Given the description of an element on the screen output the (x, y) to click on. 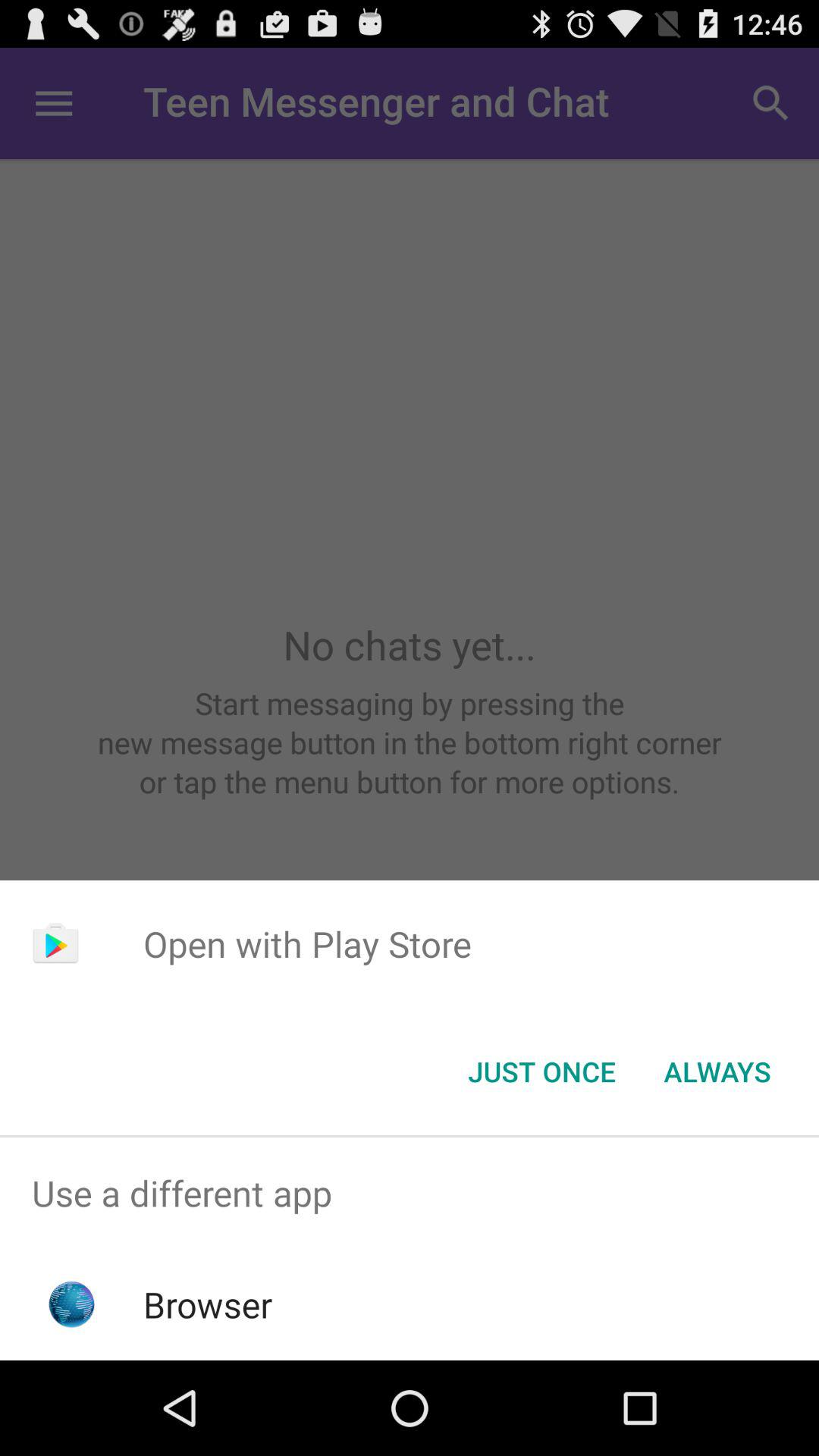
tap the just once button (541, 1071)
